Given the description of an element on the screen output the (x, y) to click on. 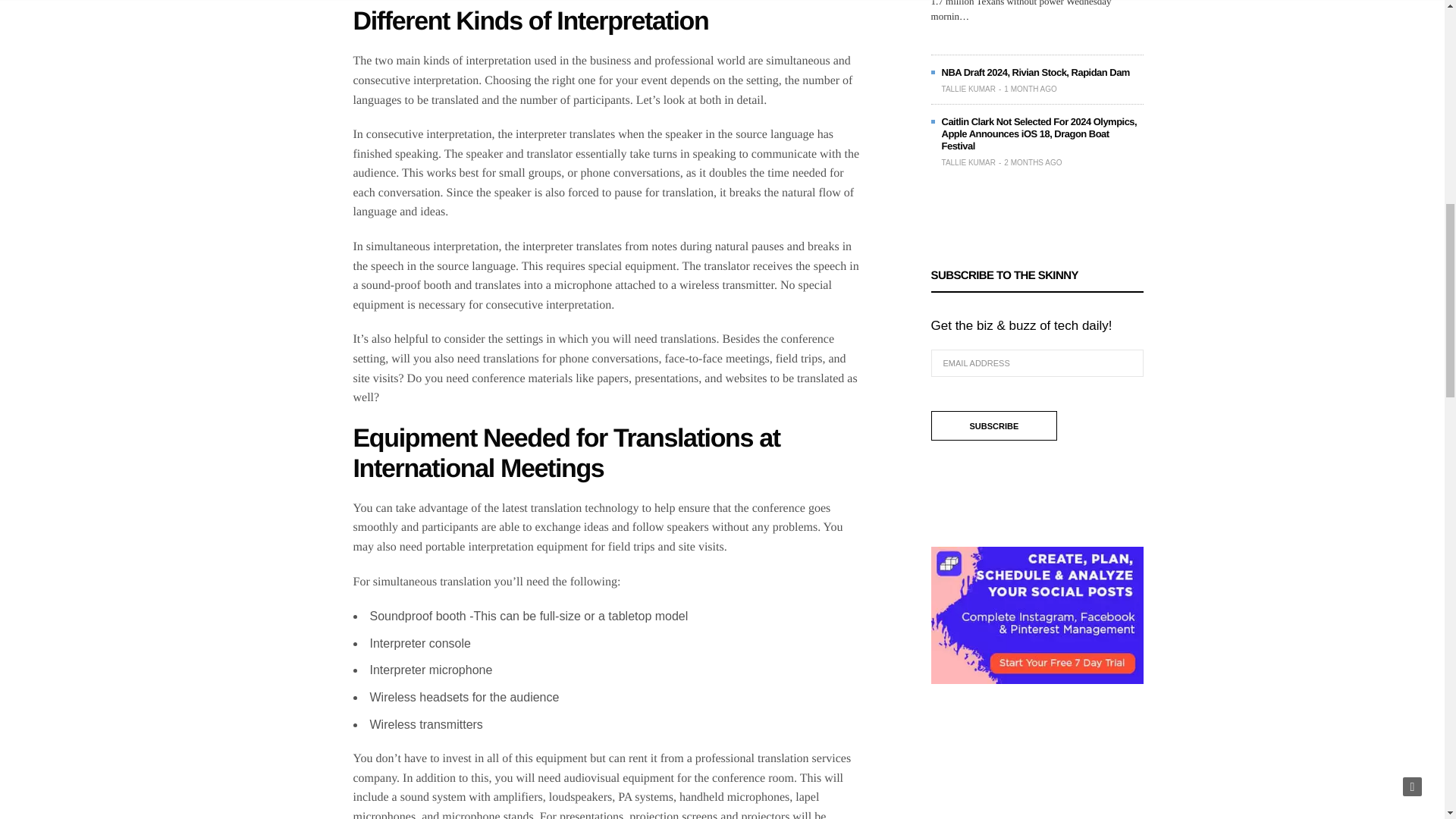
Subscribe (994, 425)
